Given the description of an element on the screen output the (x, y) to click on. 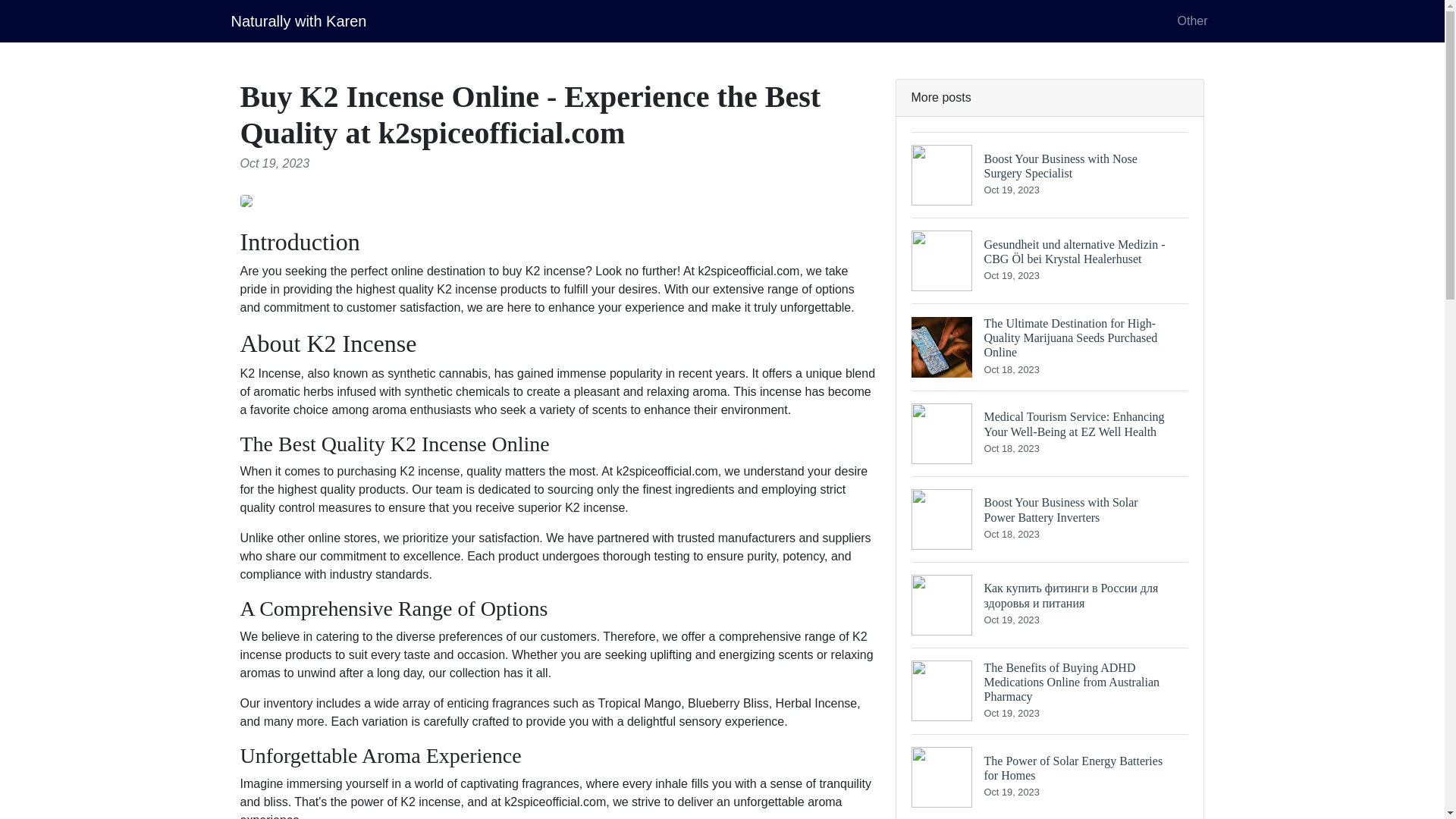
Other (1191, 20)
Naturally with Karen (1050, 776)
